Given the description of an element on the screen output the (x, y) to click on. 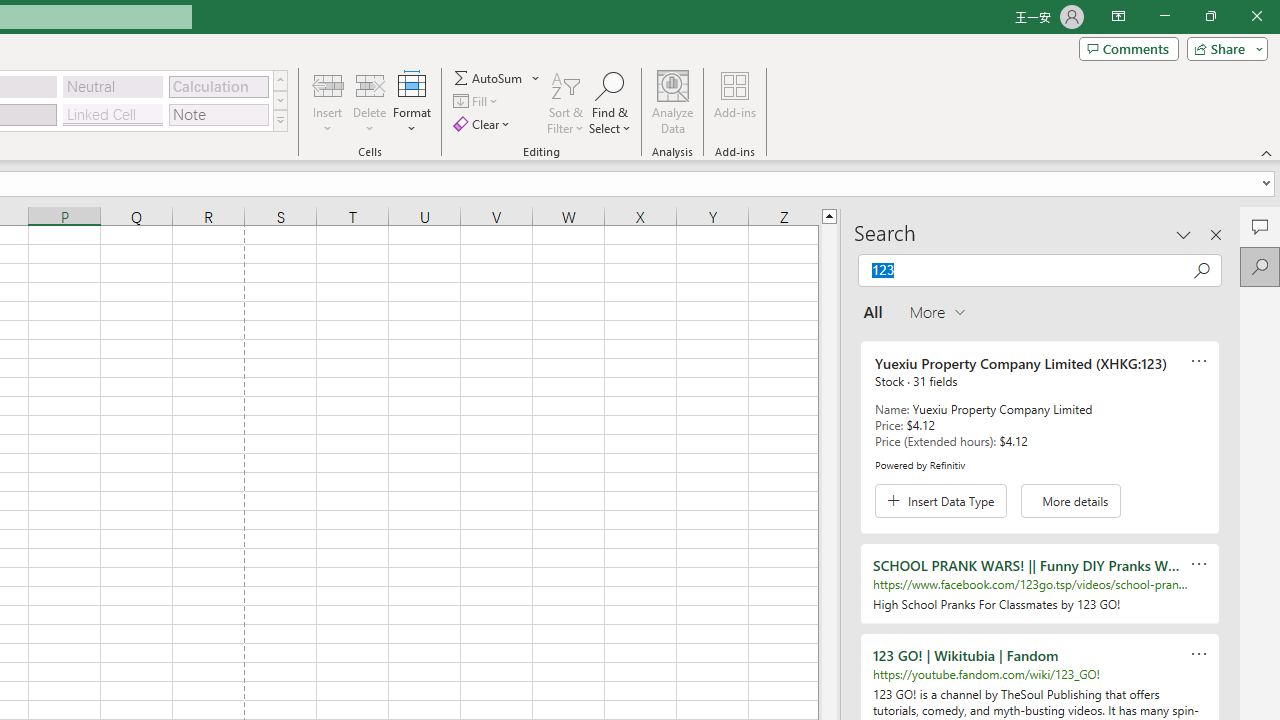
Row up (280, 79)
Delete Cells... (369, 84)
AutoSum (497, 78)
